Given the description of an element on the screen output the (x, y) to click on. 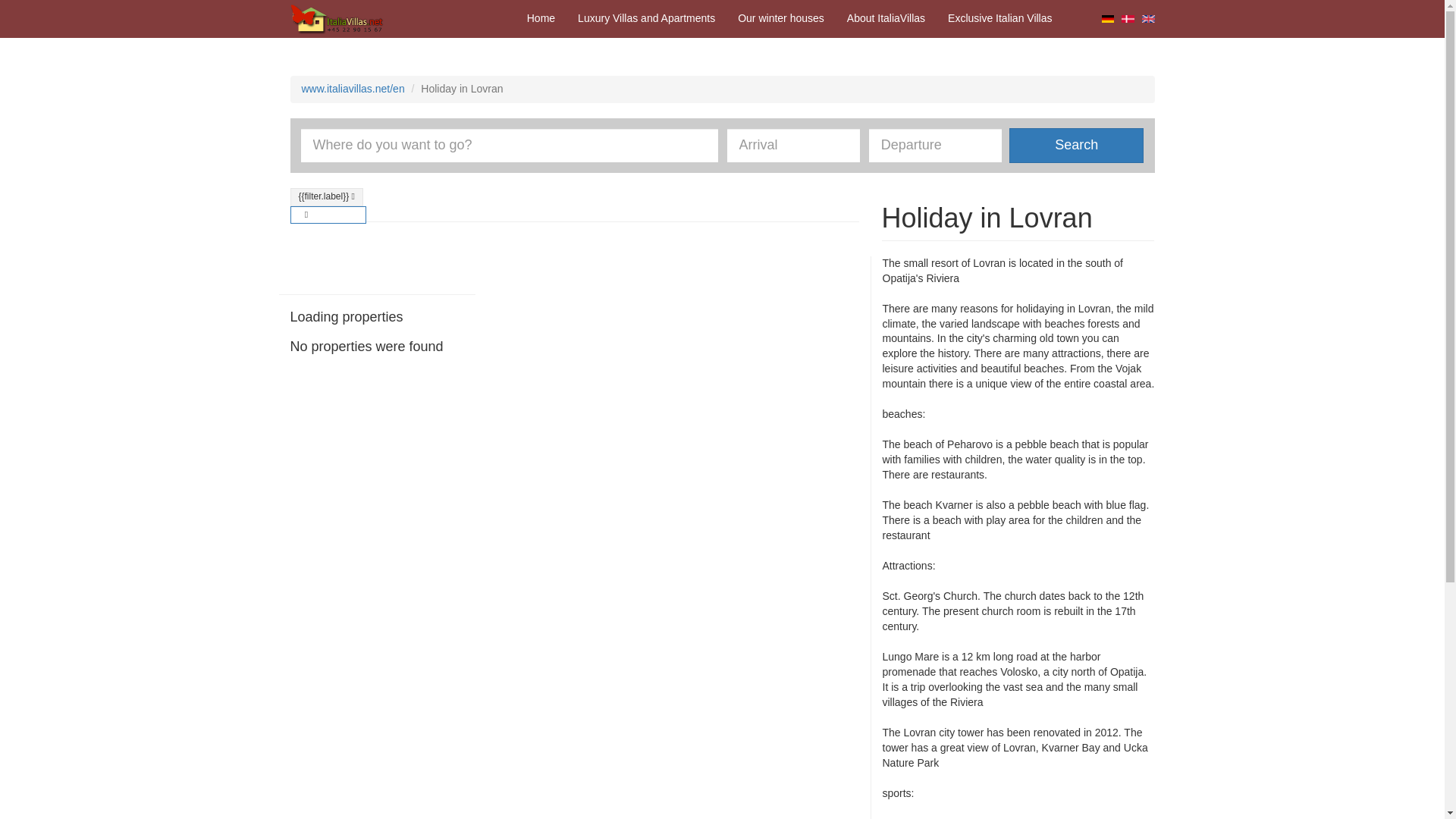
About ItaliaVillas (885, 18)
Luxury Villas and Apartments (646, 18)
Search (1075, 144)
Our winter houses (780, 18)
Dansk (1127, 18)
Deutsch (1108, 18)
Home (540, 18)
Exclusive Italian Villas (999, 18)
English (1147, 18)
